Given the description of an element on the screen output the (x, y) to click on. 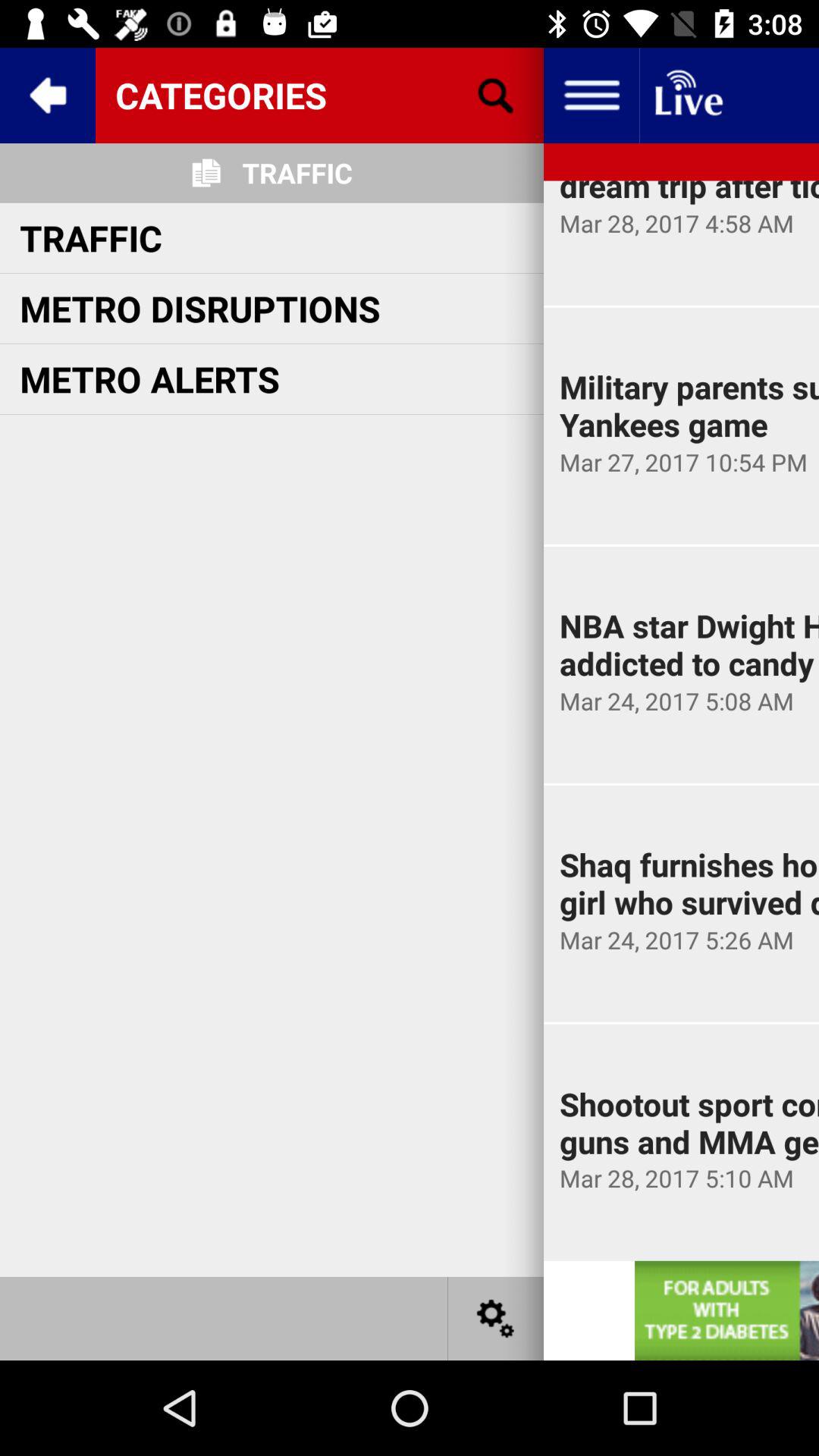
click on settings (495, 1317)
click on icon on the left side of live (591, 95)
click on live (687, 95)
click on the search icon (495, 95)
